Given the description of an element on the screen output the (x, y) to click on. 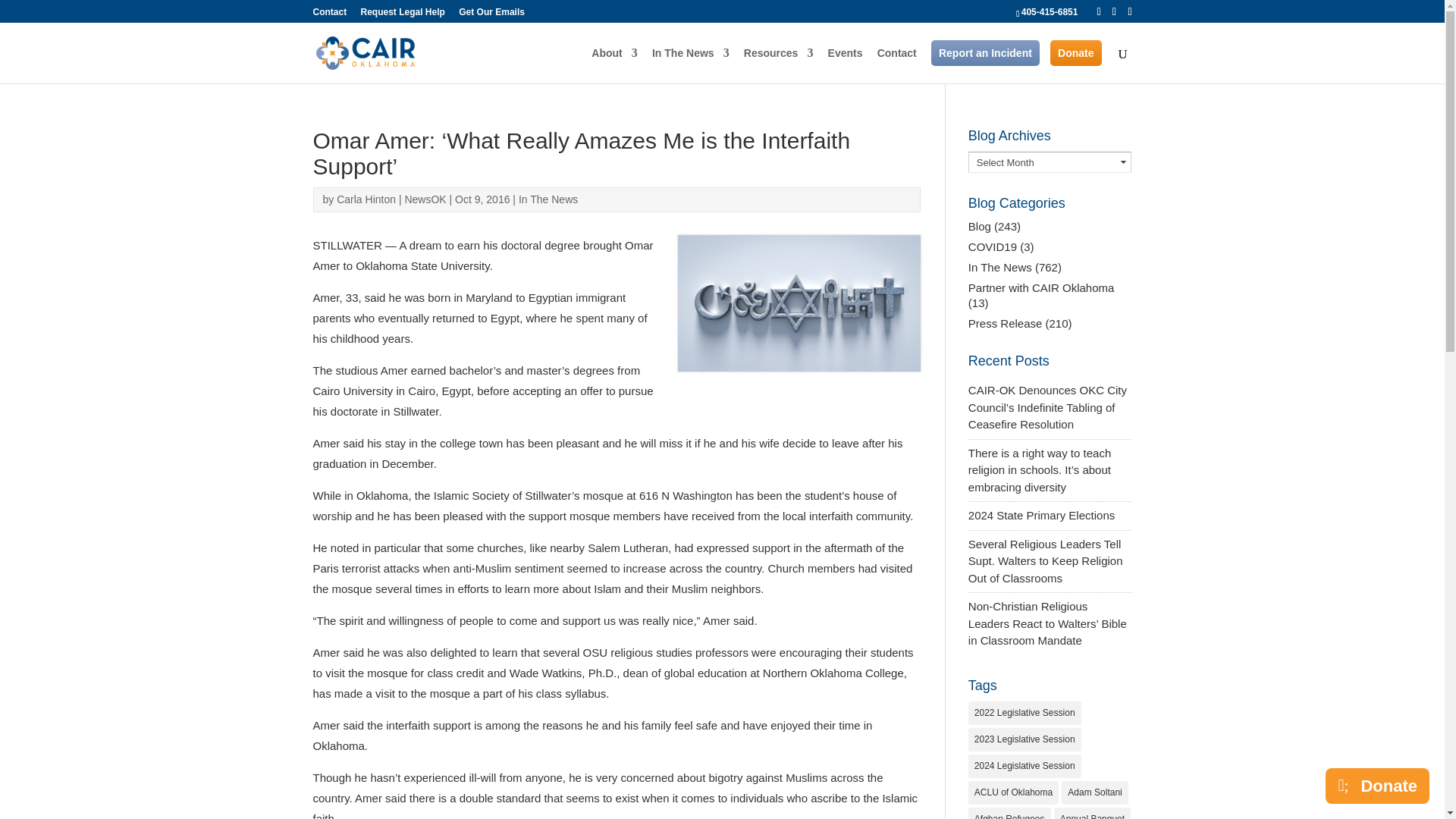
Contact (329, 15)
Get Our Emails (491, 15)
Donate (1074, 53)
Report an Incident (985, 53)
About (614, 65)
Press Release (1005, 323)
NewsOK (424, 199)
COVID19 (992, 246)
Blog (979, 226)
Request Legal Help (403, 15)
Events (845, 65)
In The News (690, 65)
Contact (897, 65)
Resources (778, 65)
Carla Hinton (366, 199)
